Given the description of an element on the screen output the (x, y) to click on. 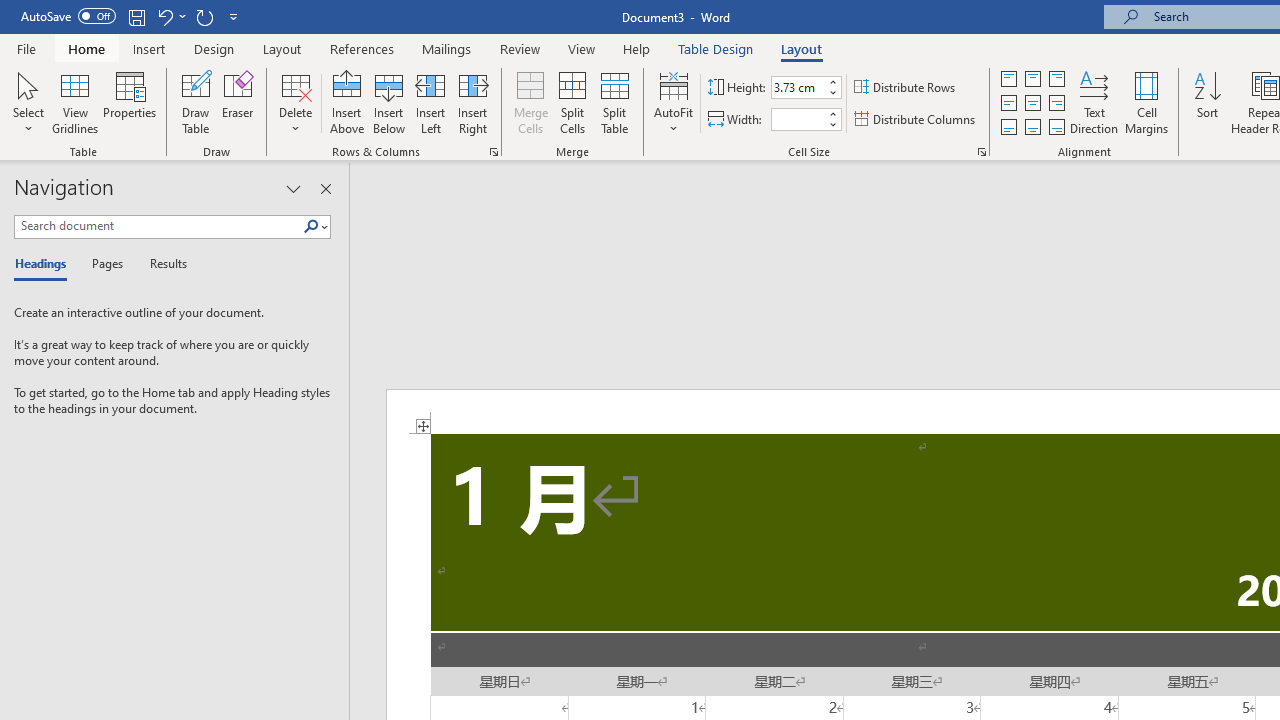
Properties... (981, 151)
Split Cells... (572, 102)
Draw Table (196, 102)
Insert Above (347, 102)
Table Row Height (797, 87)
Distribute Columns (916, 119)
Align Bottom Right (1056, 126)
Delete (296, 102)
